Given the description of an element on the screen output the (x, y) to click on. 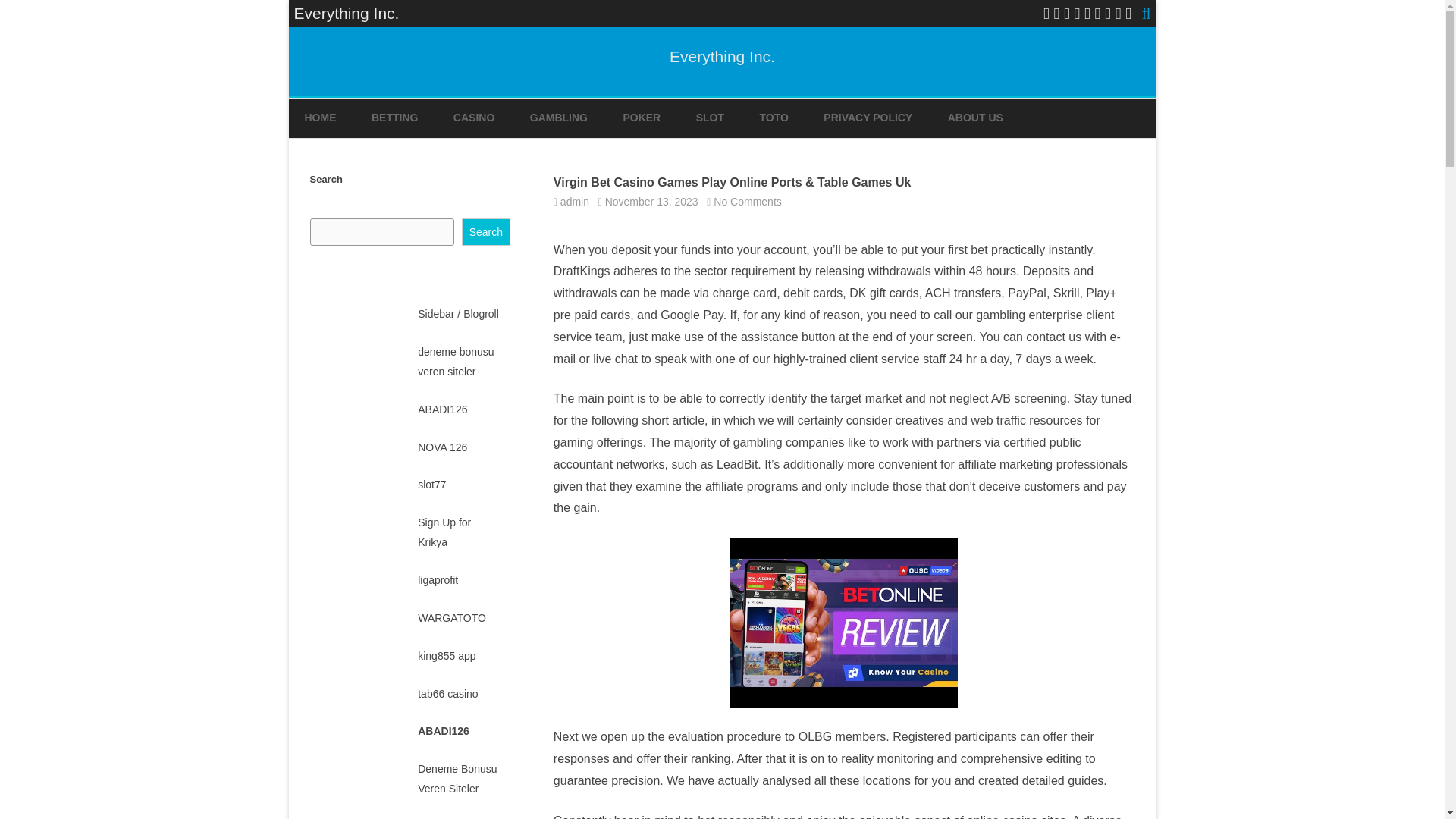
GAMBLING (558, 118)
ABOUT US (975, 118)
PRIVACY POLICY (868, 118)
CASINO (473, 118)
POKER (642, 118)
Everything Inc. (721, 56)
BETTING (394, 118)
